Given the description of an element on the screen output the (x, y) to click on. 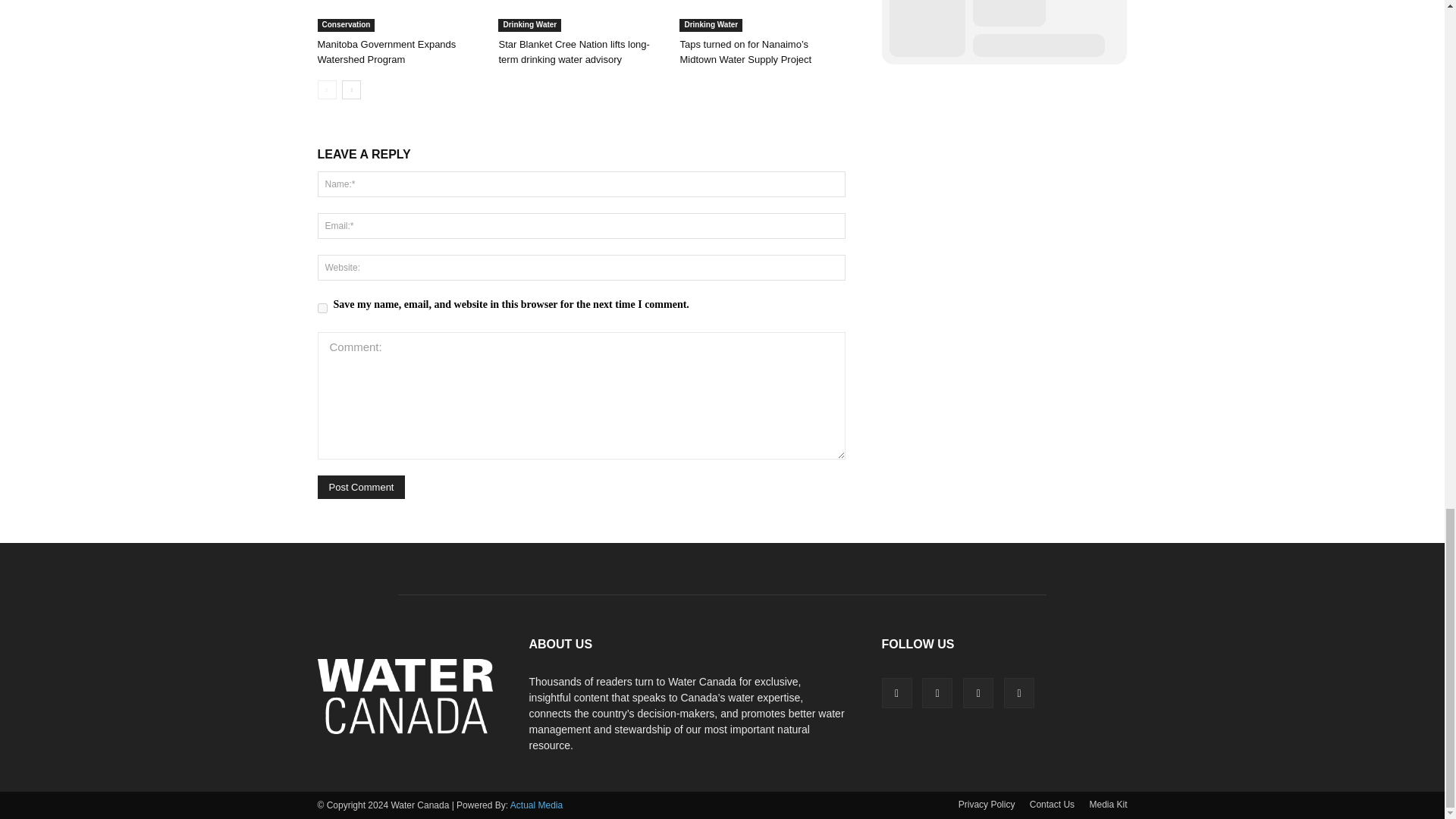
yes (321, 307)
Post Comment (360, 486)
